Given the description of an element on the screen output the (x, y) to click on. 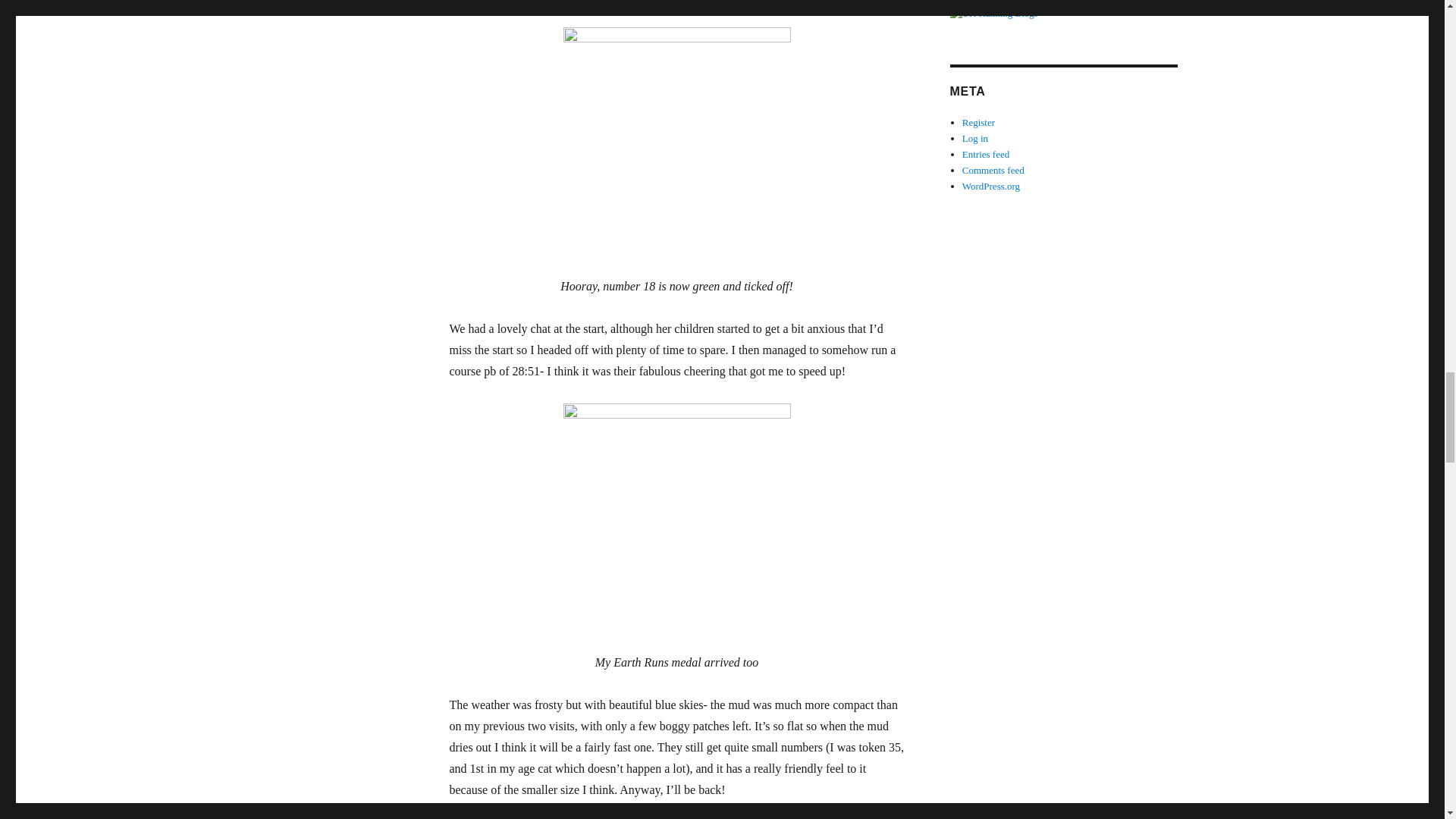
UK Running blogs (1062, 13)
